Given the description of an element on the screen output the (x, y) to click on. 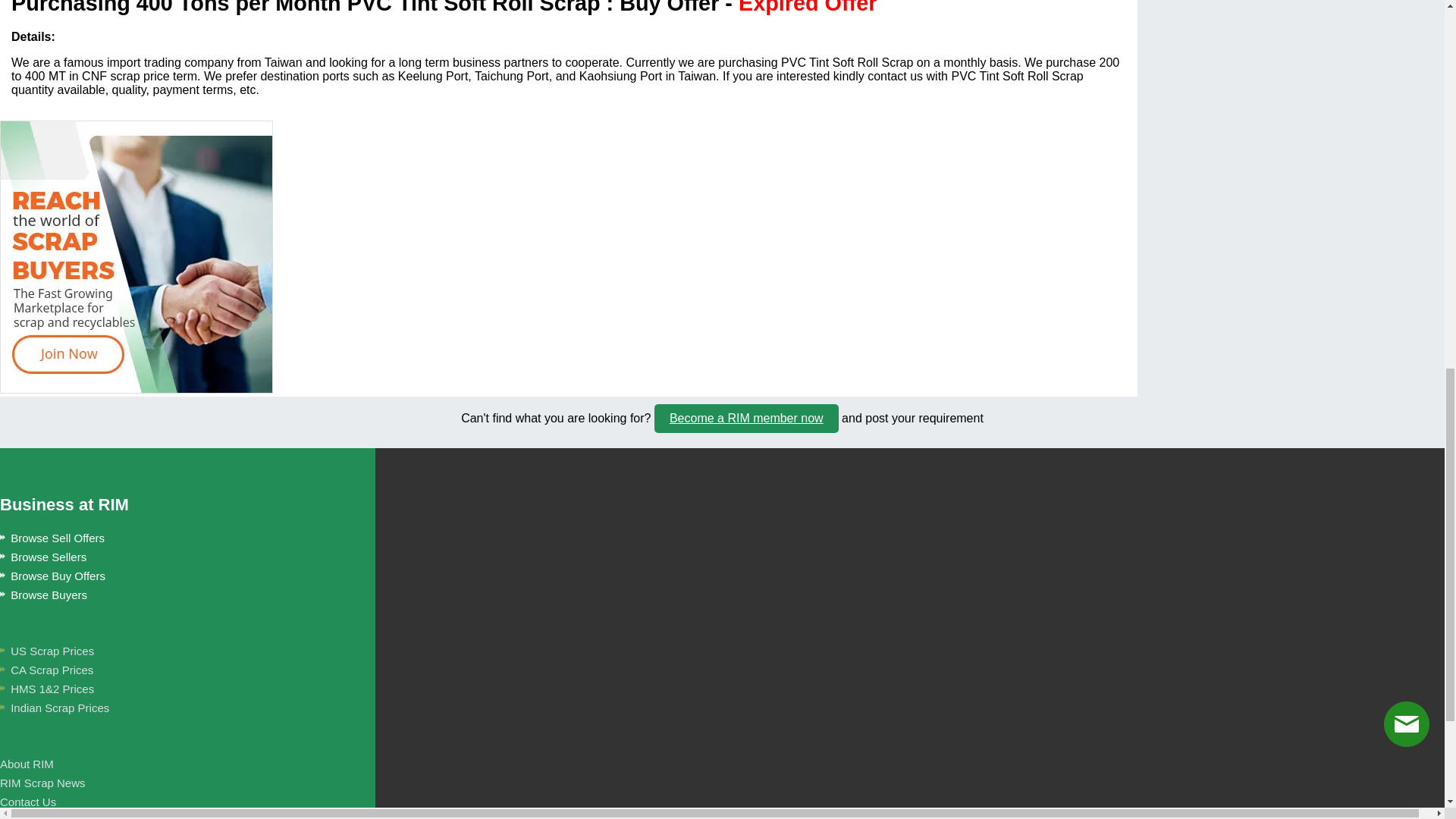
RIM Relaunch Offer - Get Extra 2 Months (136, 256)
Browse Buyers (43, 594)
Browse Sell Offers (52, 537)
US Plastic prices (54, 707)
CA Scrap Prices (46, 669)
About RIM (26, 763)
US Scrap Prices (47, 650)
Browse Buy Offers (52, 575)
Browse Sellers (42, 556)
US Scrap Prices (47, 650)
Canada Scrap Prices (46, 669)
Indian Scrap Prices (54, 707)
Become a RIM member now (745, 418)
